Given the description of an element on the screen output the (x, y) to click on. 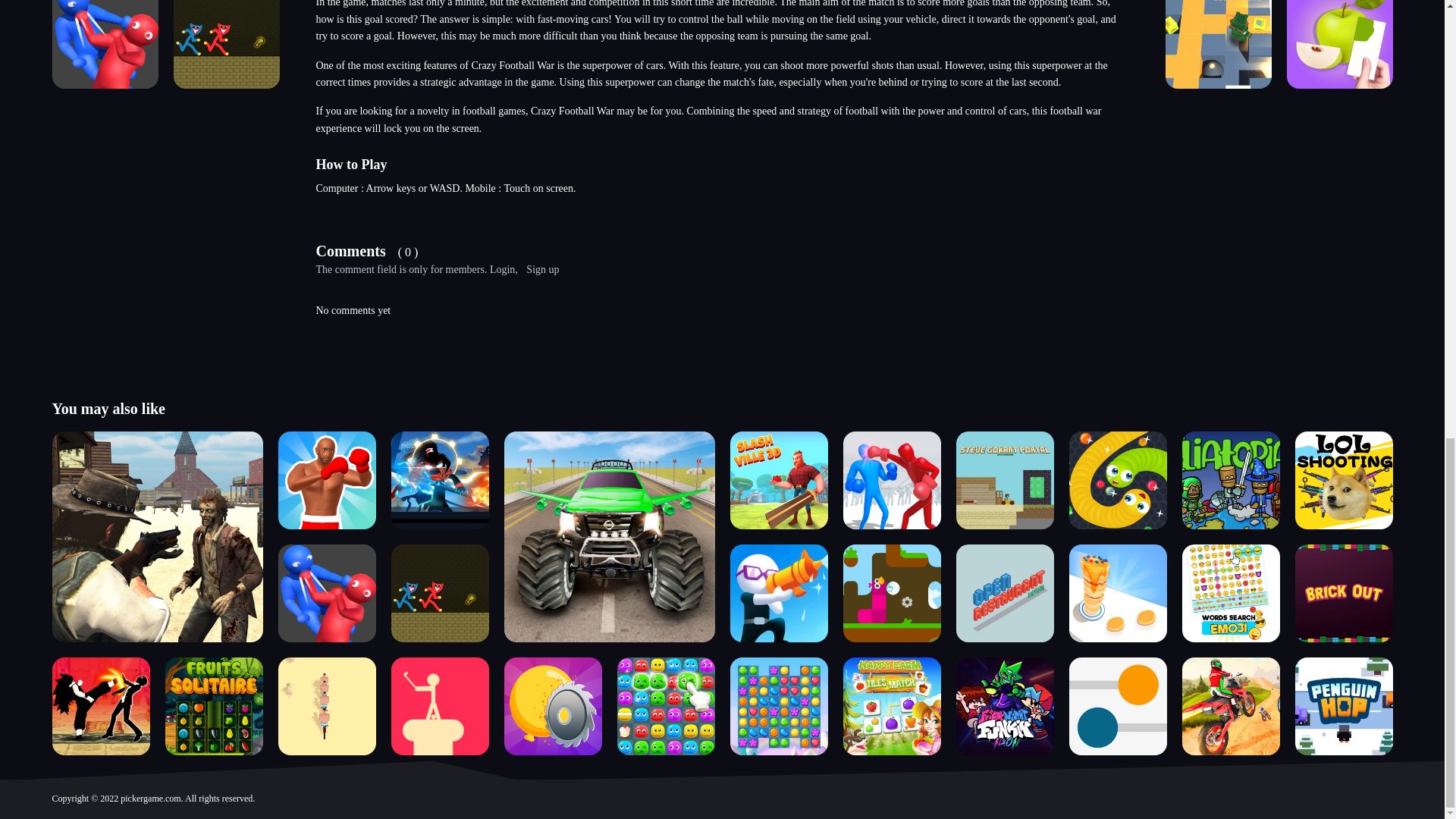
Sign up (542, 269)
Login (502, 269)
